Given the description of an element on the screen output the (x, y) to click on. 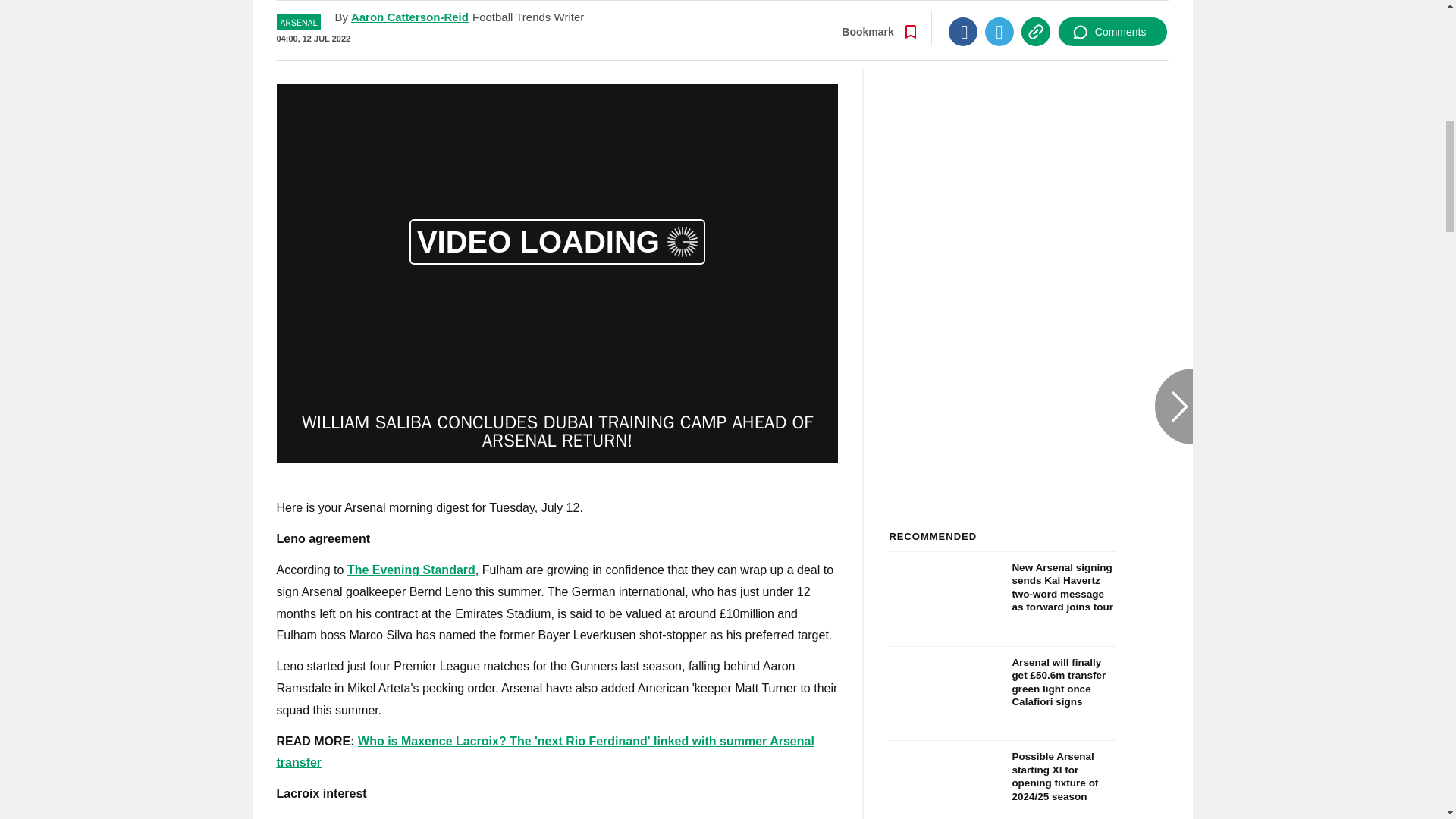
Twitter (999, 22)
Facebook (962, 22)
Comments (1112, 22)
